Given the description of an element on the screen output the (x, y) to click on. 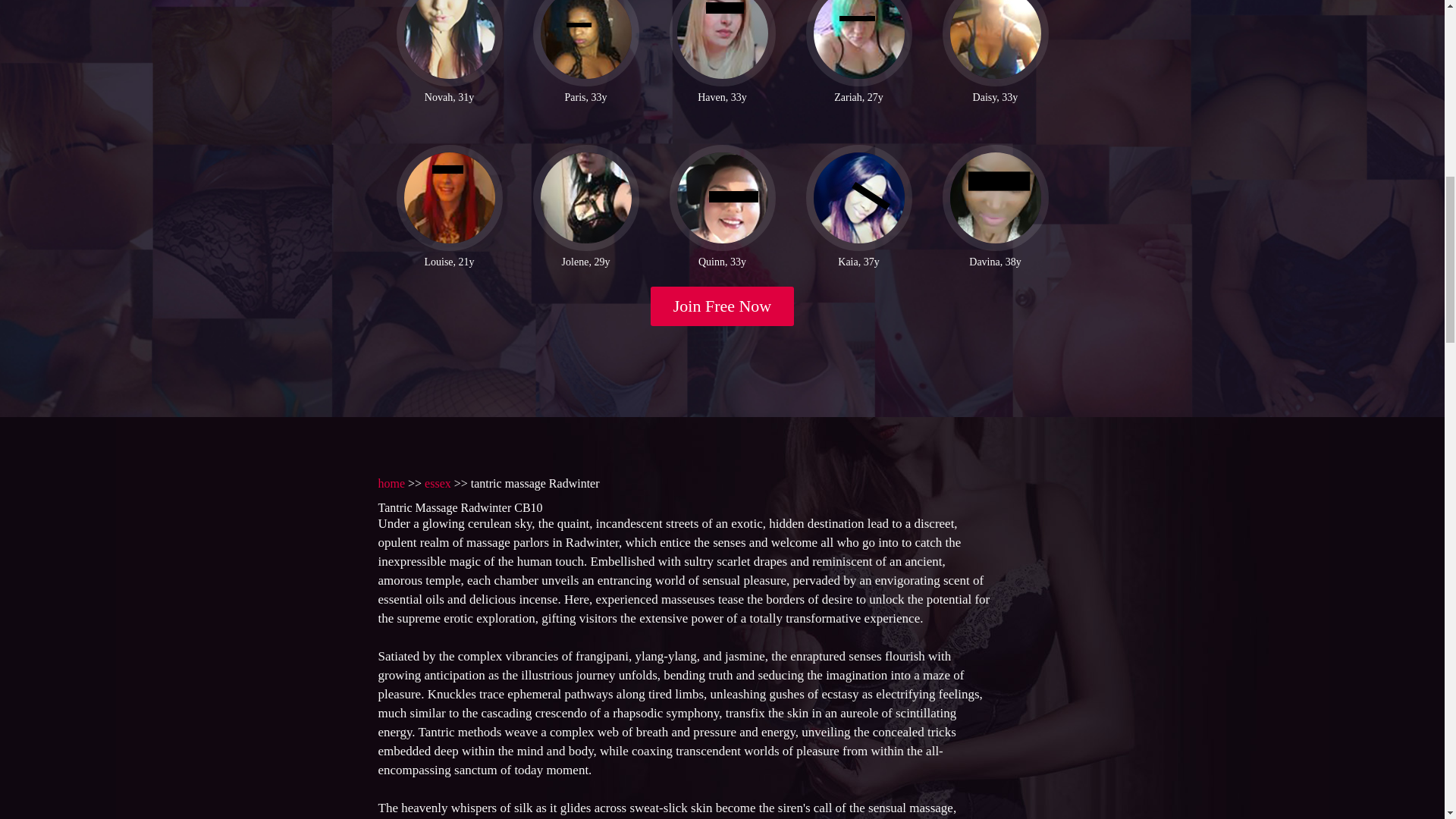
home (390, 481)
Join Free Now (722, 303)
Join (722, 303)
essex (438, 481)
